Given the description of an element on the screen output the (x, y) to click on. 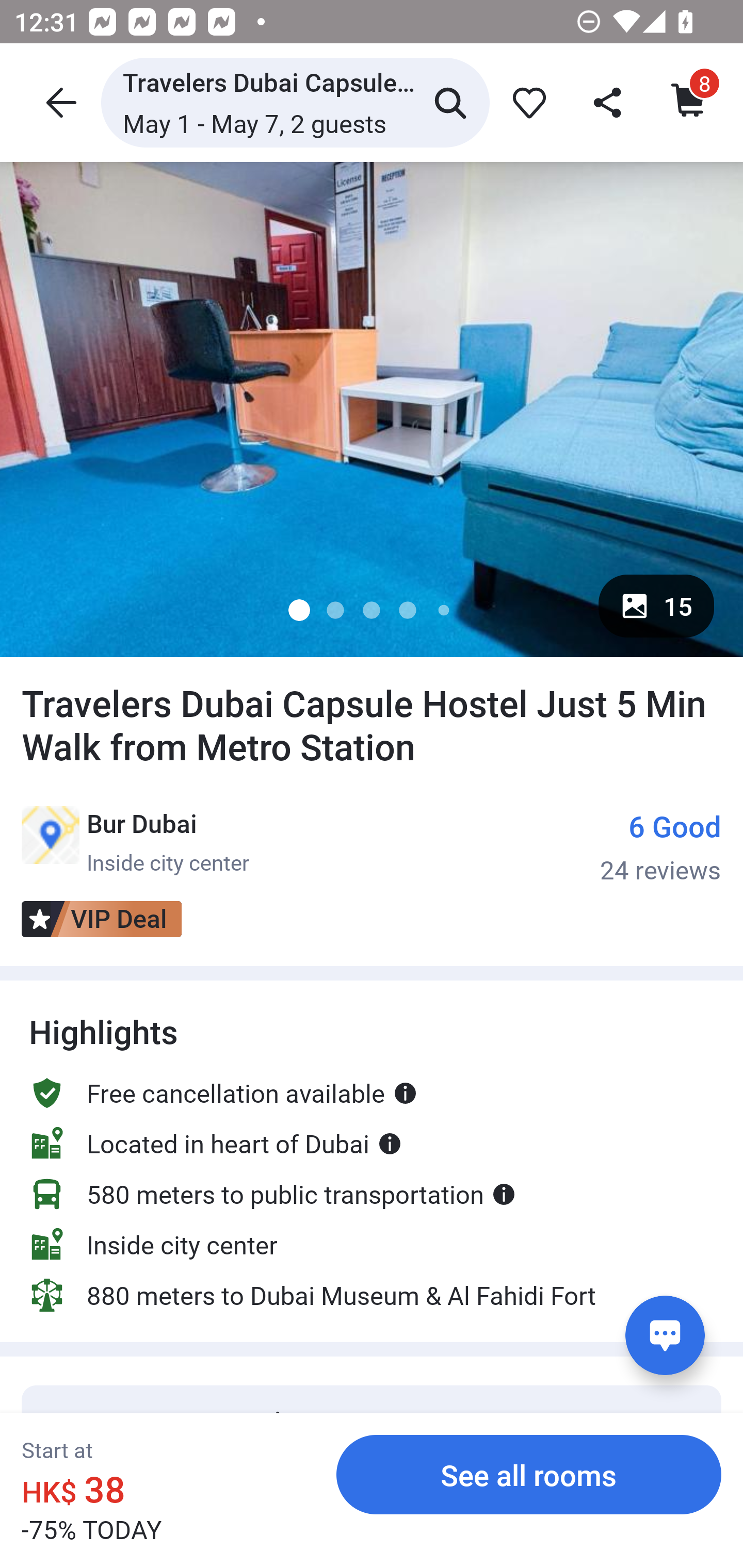
header icon (59, 102)
favorite_icon 0dbe6efb (525, 102)
share_header_icon (608, 102)
Cart icon cart_item_count 8 (684, 102)
image (371, 408)
15 (656, 605)
Bur Dubai Inside city center (134, 841)
6 Good 24 reviews (660, 845)
Free cancellation available (222, 1092)
580 meters to public transportation (272, 1193)
See all rooms (528, 1474)
